Given the description of an element on the screen output the (x, y) to click on. 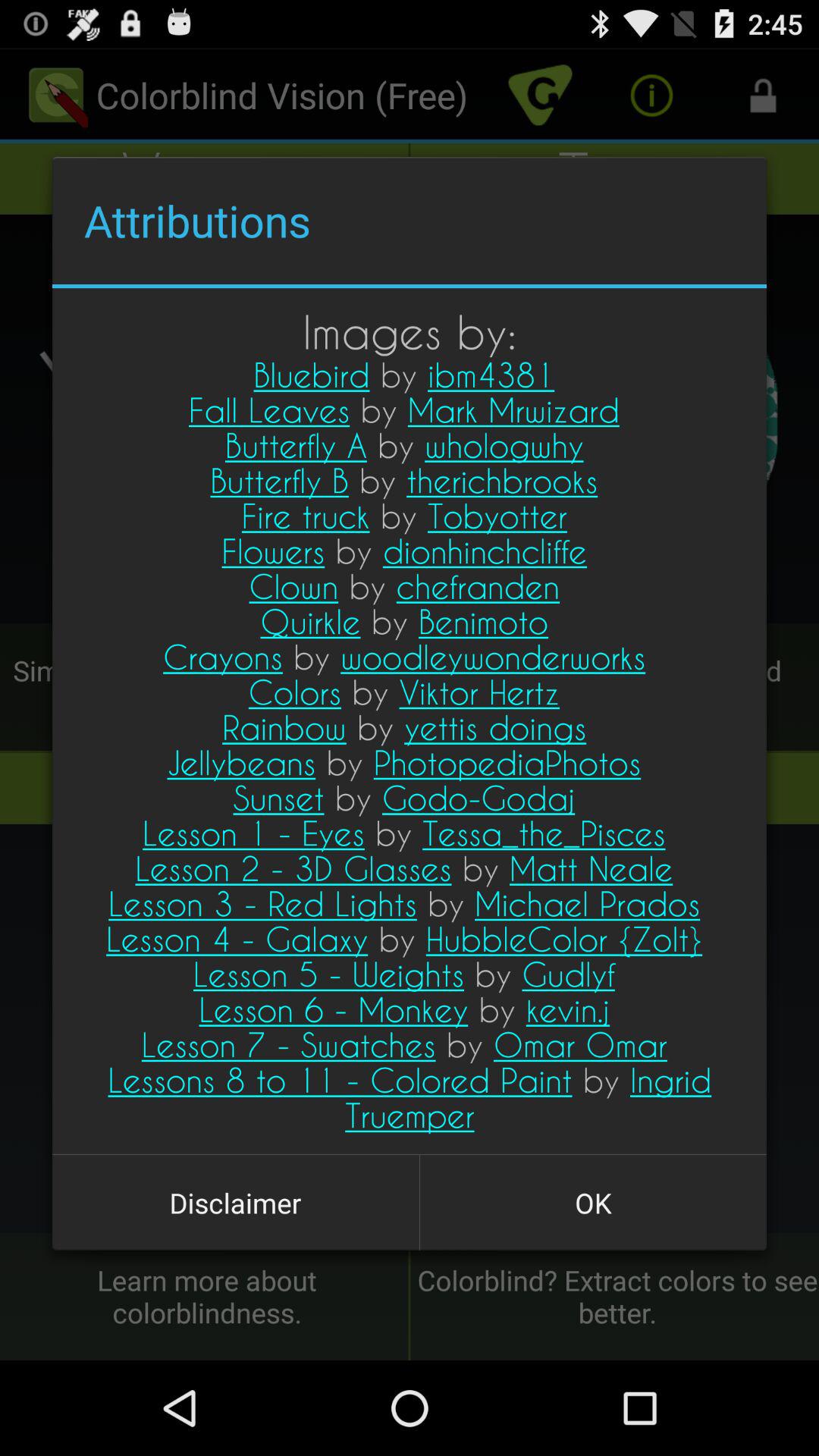
turn off item below the bluebird by ibm4381 item (235, 1202)
